Given the description of an element on the screen output the (x, y) to click on. 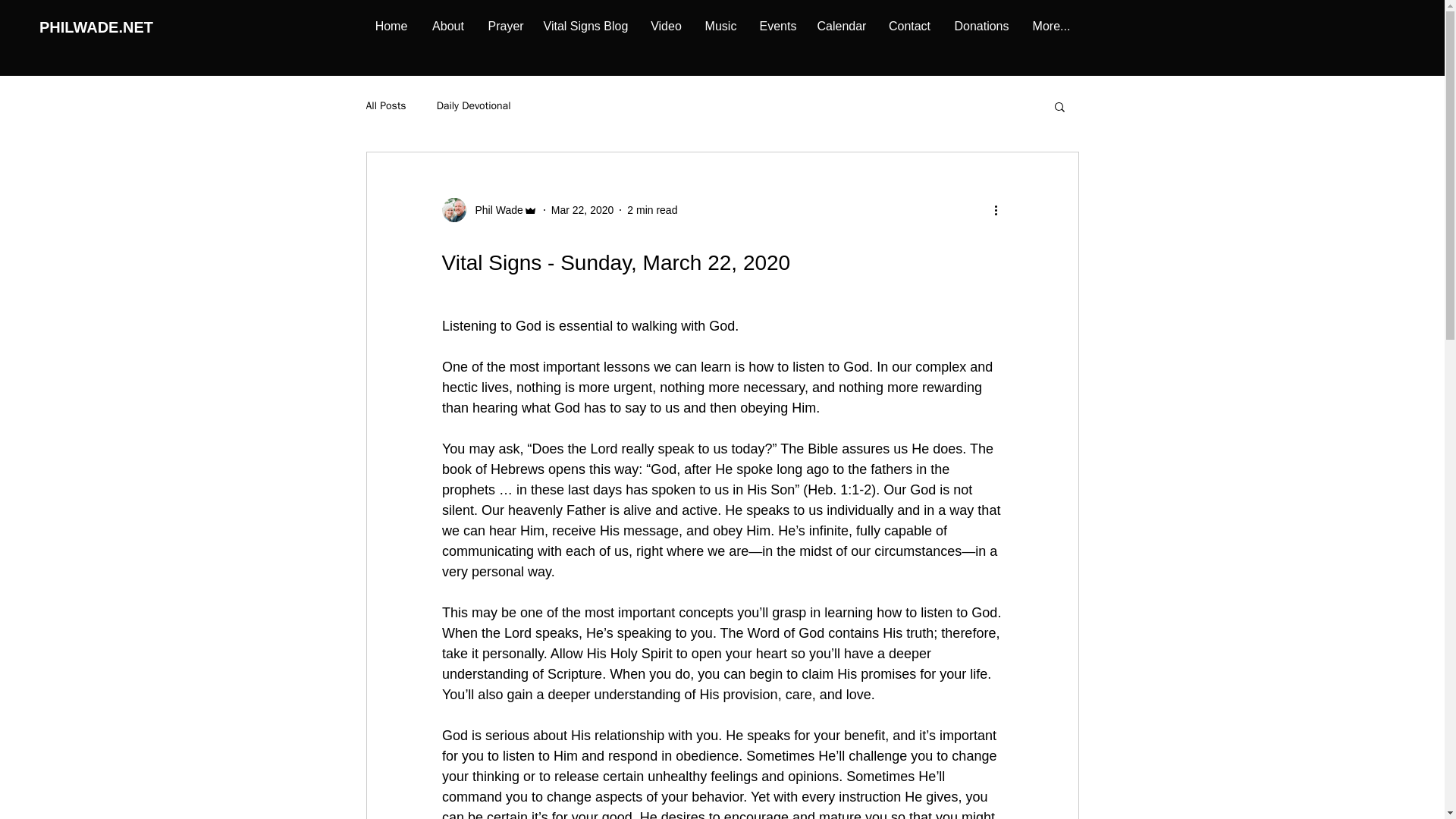
Donations (981, 26)
Daily Devotional (473, 106)
PHILWADE.NET (95, 26)
Contact (909, 26)
Phil Wade (489, 209)
Prayer (503, 26)
Music (720, 26)
Video (666, 26)
Home (390, 26)
Calendar (840, 26)
Mar 22, 2020 (582, 209)
Vital Signs Blog (585, 26)
Phil Wade (493, 209)
All Posts (385, 106)
Events (776, 26)
